Given the description of an element on the screen output the (x, y) to click on. 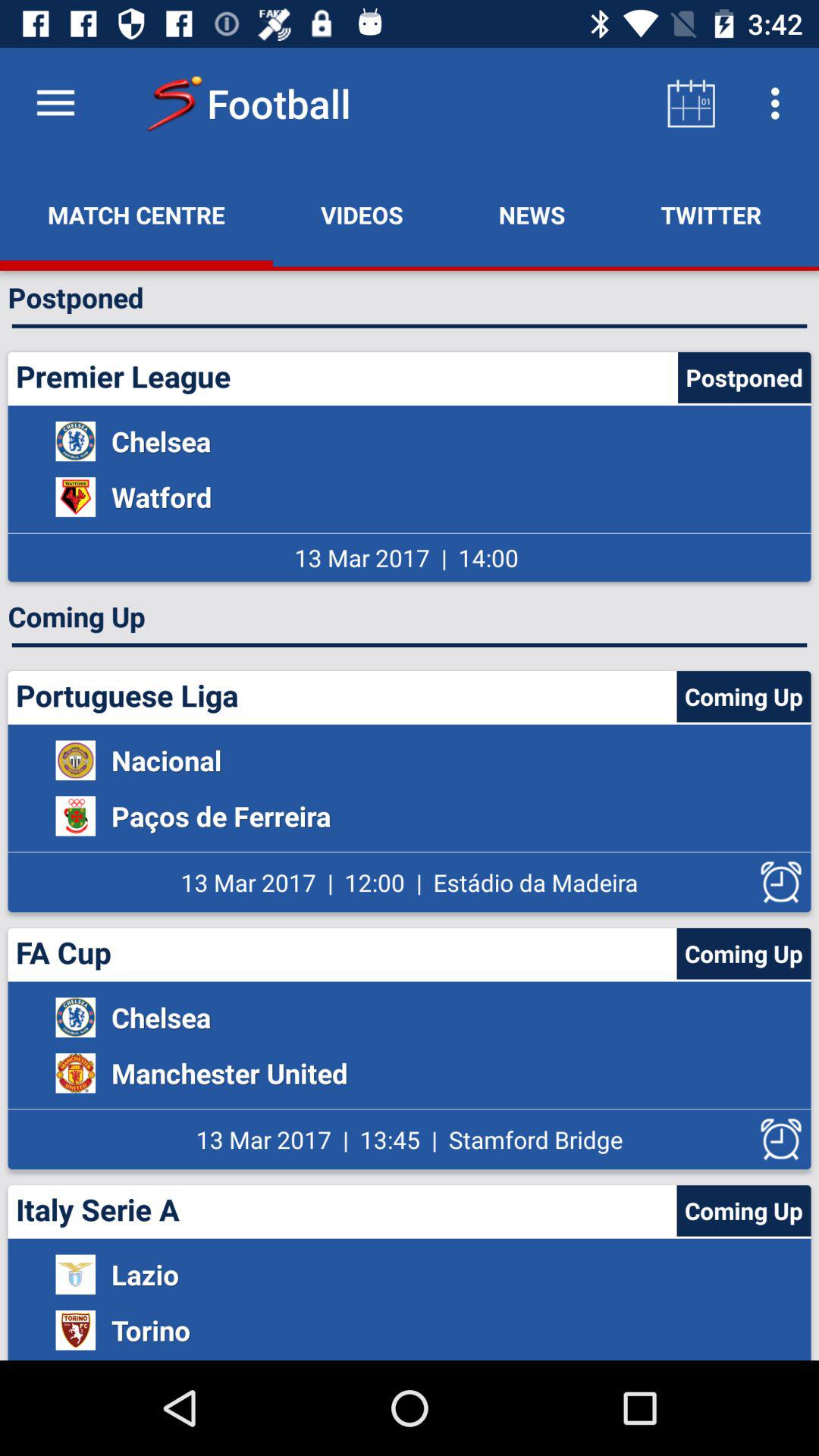
click the icon next to twitter item (532, 214)
